Given the description of an element on the screen output the (x, y) to click on. 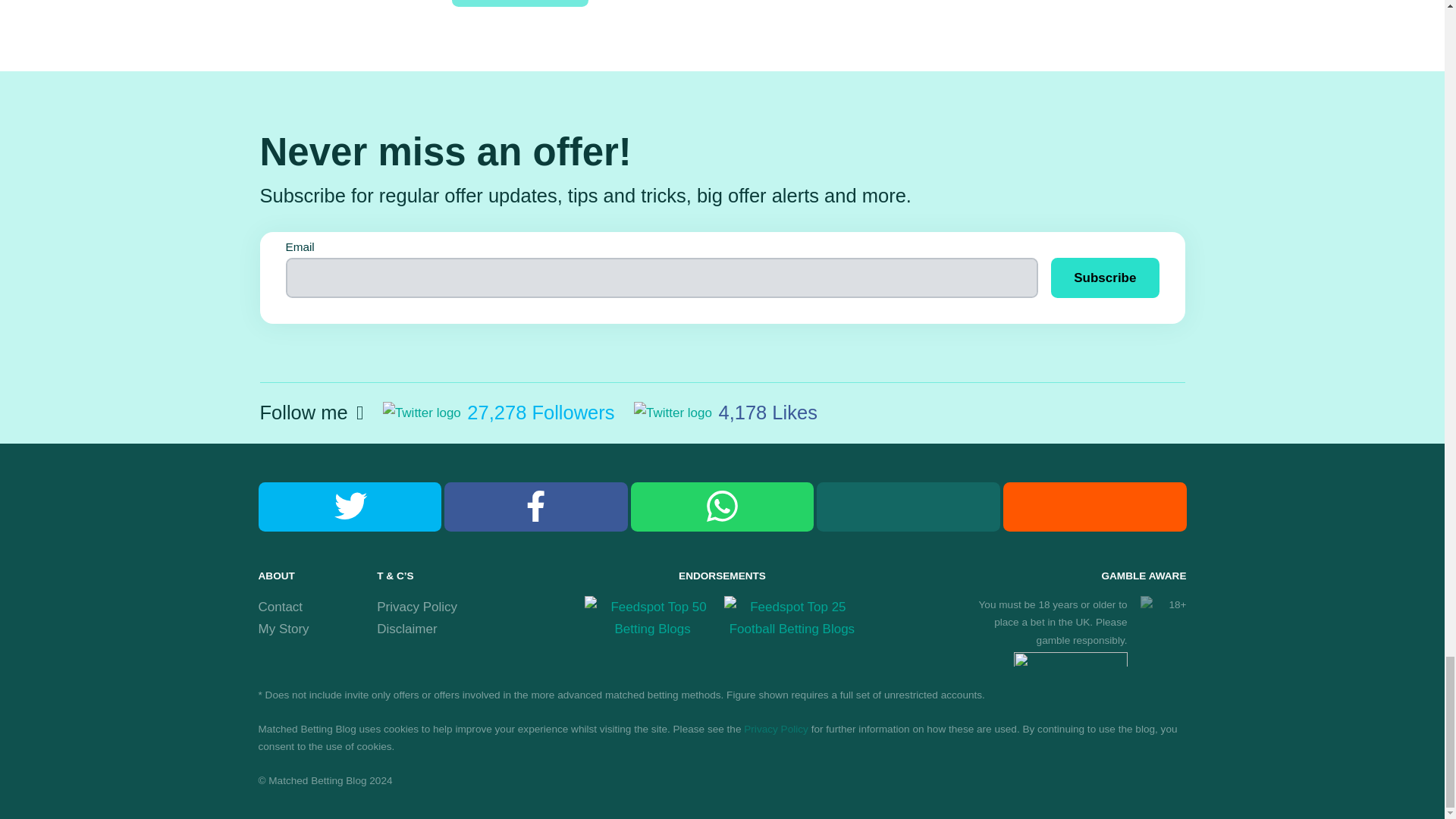
Post Comment (519, 3)
Subscribe (1104, 277)
